Given the description of an element on the screen output the (x, y) to click on. 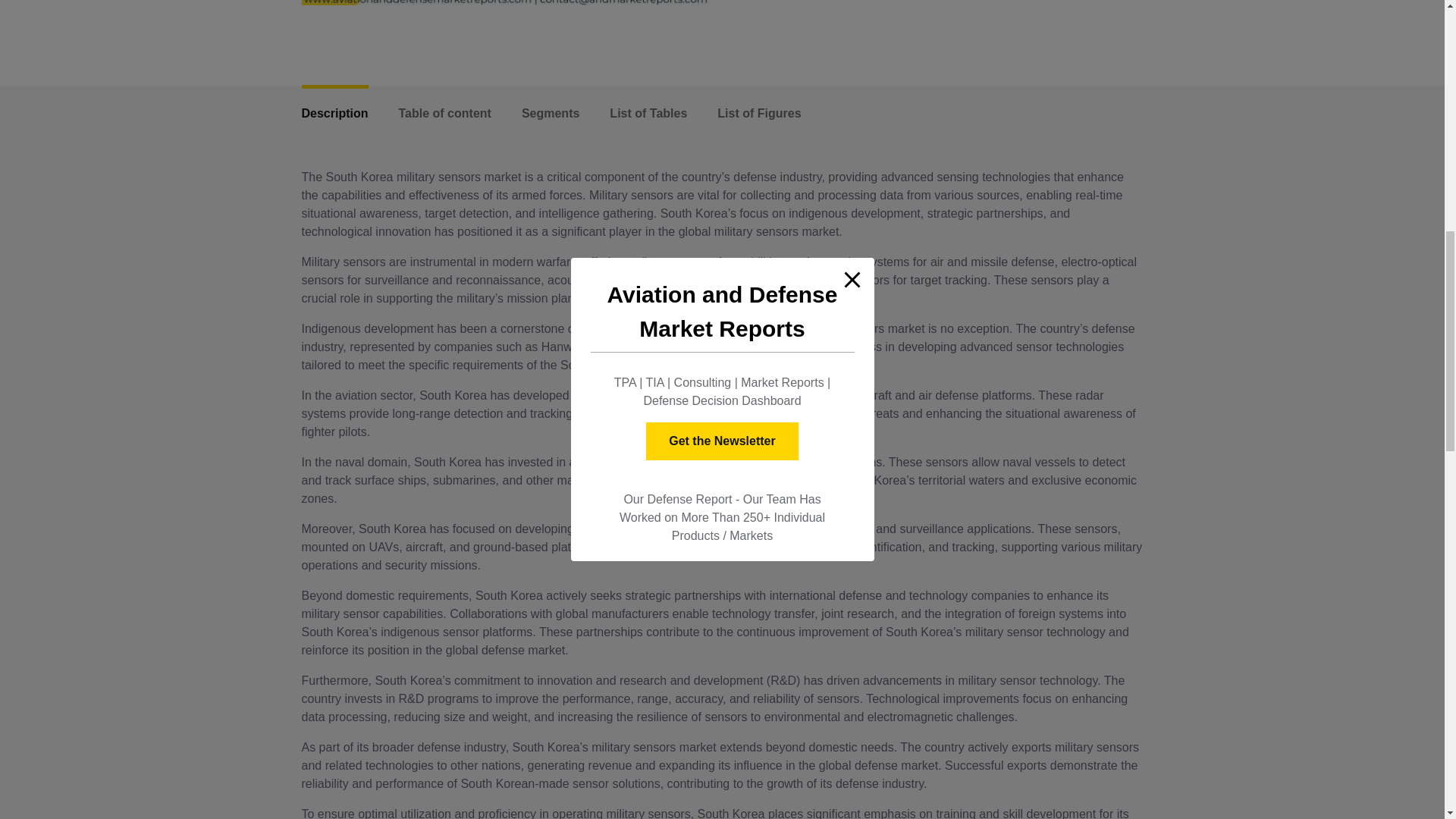
List of Tables (648, 113)
Table of content (445, 113)
ANDCBR0077 (506, 2)
List of Figures (758, 113)
Segments (550, 113)
Description (334, 113)
